Given the description of an element on the screen output the (x, y) to click on. 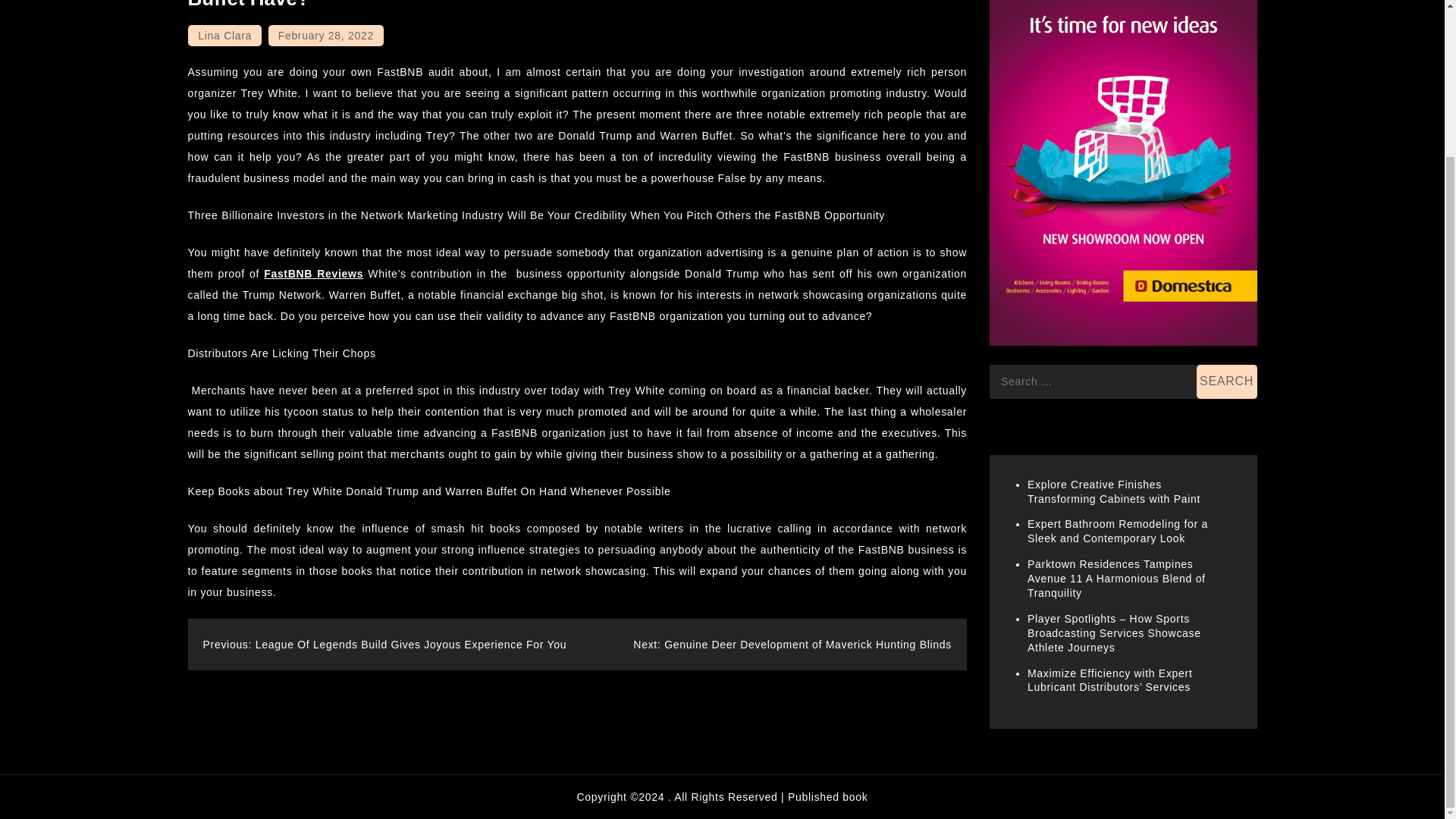
Search (1226, 381)
FastBNB Reviews (312, 273)
Explore Creative Finishes Transforming Cabinets with Paint (1113, 491)
February 28, 2022 (325, 35)
Expert Bathroom Remodeling for a Sleek and Contemporary Look (1117, 530)
Search (1226, 381)
Lina Clara (224, 35)
Next: Genuine Deer Development of Maverick Hunting Blinds (792, 644)
